Given the description of an element on the screen output the (x, y) to click on. 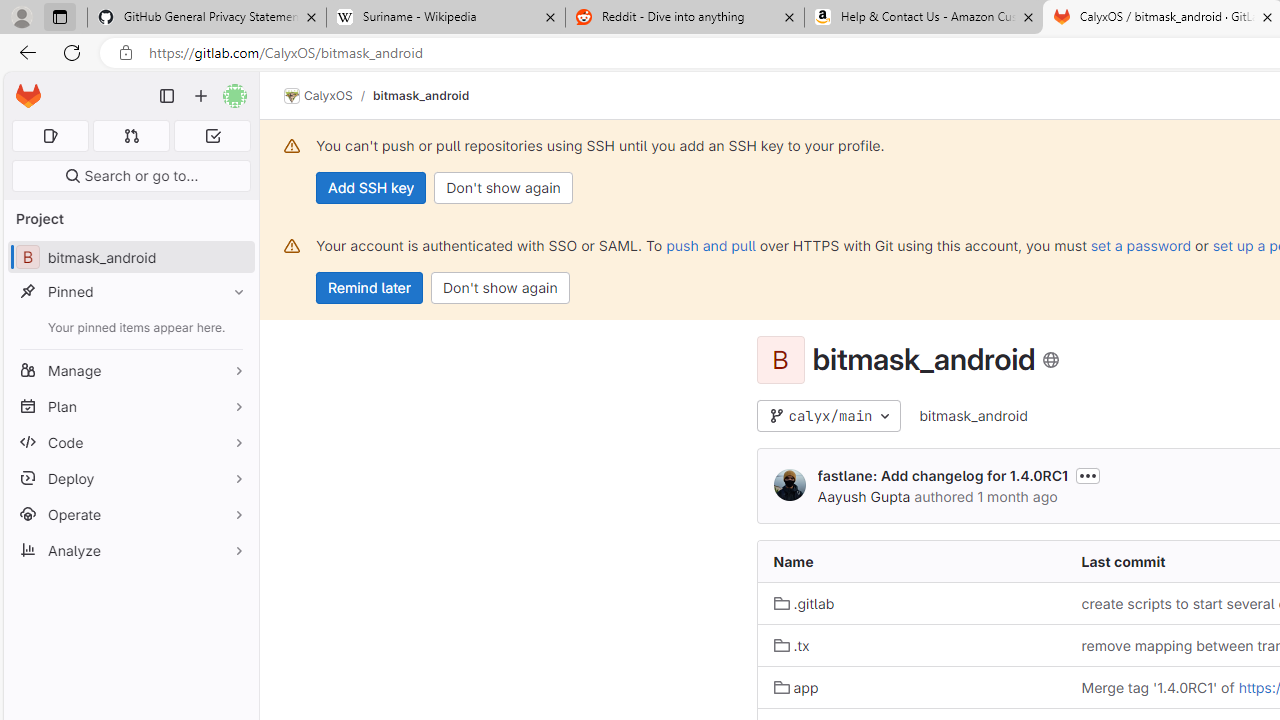
Homepage (27, 96)
Reddit - Dive into anything (684, 17)
Aayush Gupta's avatar (789, 484)
bitmask_android (973, 415)
Operate (130, 514)
Manage (130, 370)
Aayush Gupta (863, 496)
.gitlab (803, 603)
Class: s16 icon (1051, 359)
Code (130, 442)
Skip to main content (23, 87)
Operate (130, 514)
calyx/main (828, 416)
.gitlab (911, 602)
To-Do list 0 (212, 136)
